Given the description of an element on the screen output the (x, y) to click on. 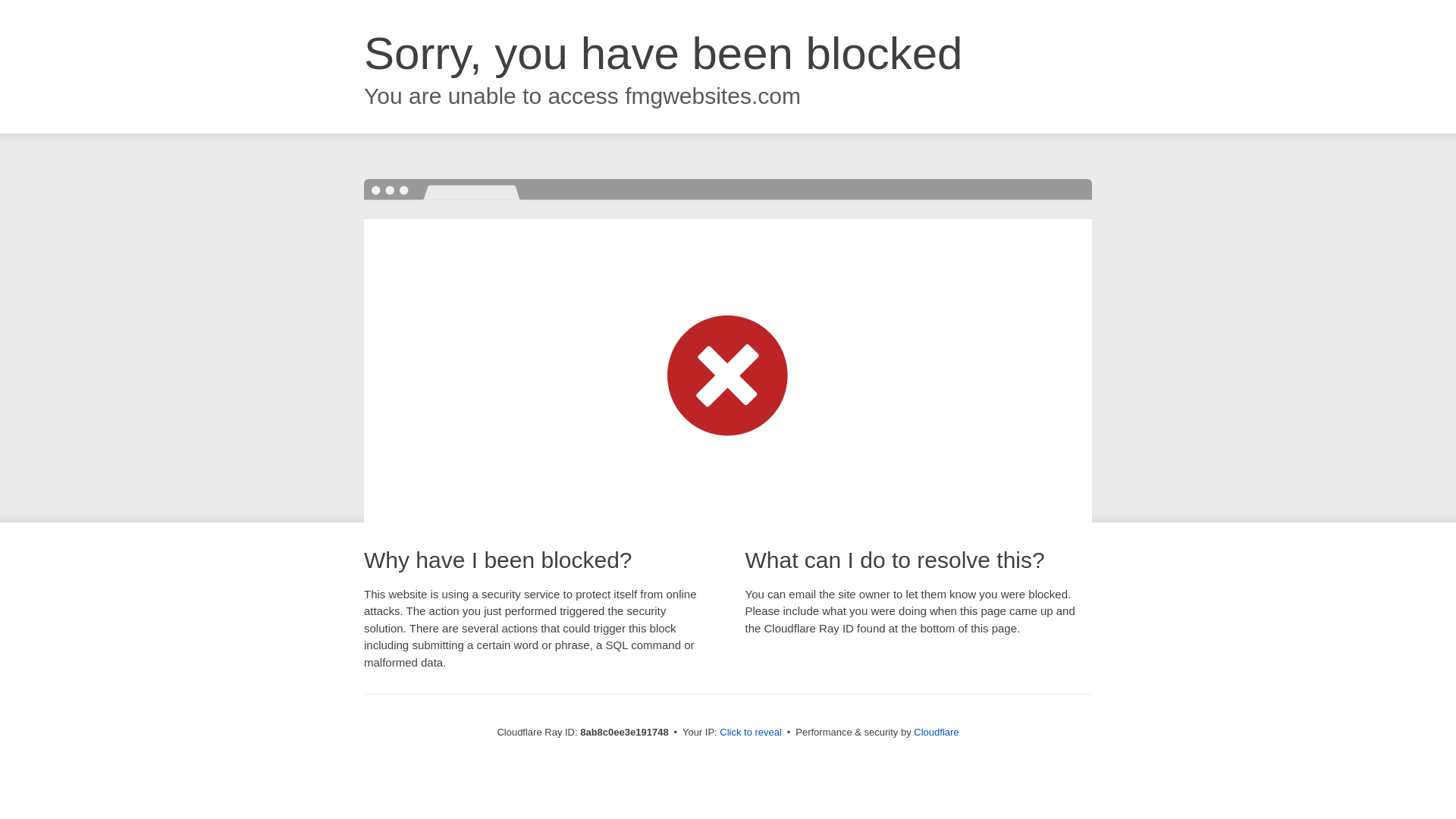
Cloudflare (936, 731)
Click to reveal (750, 732)
